Given the description of an element on the screen output the (x, y) to click on. 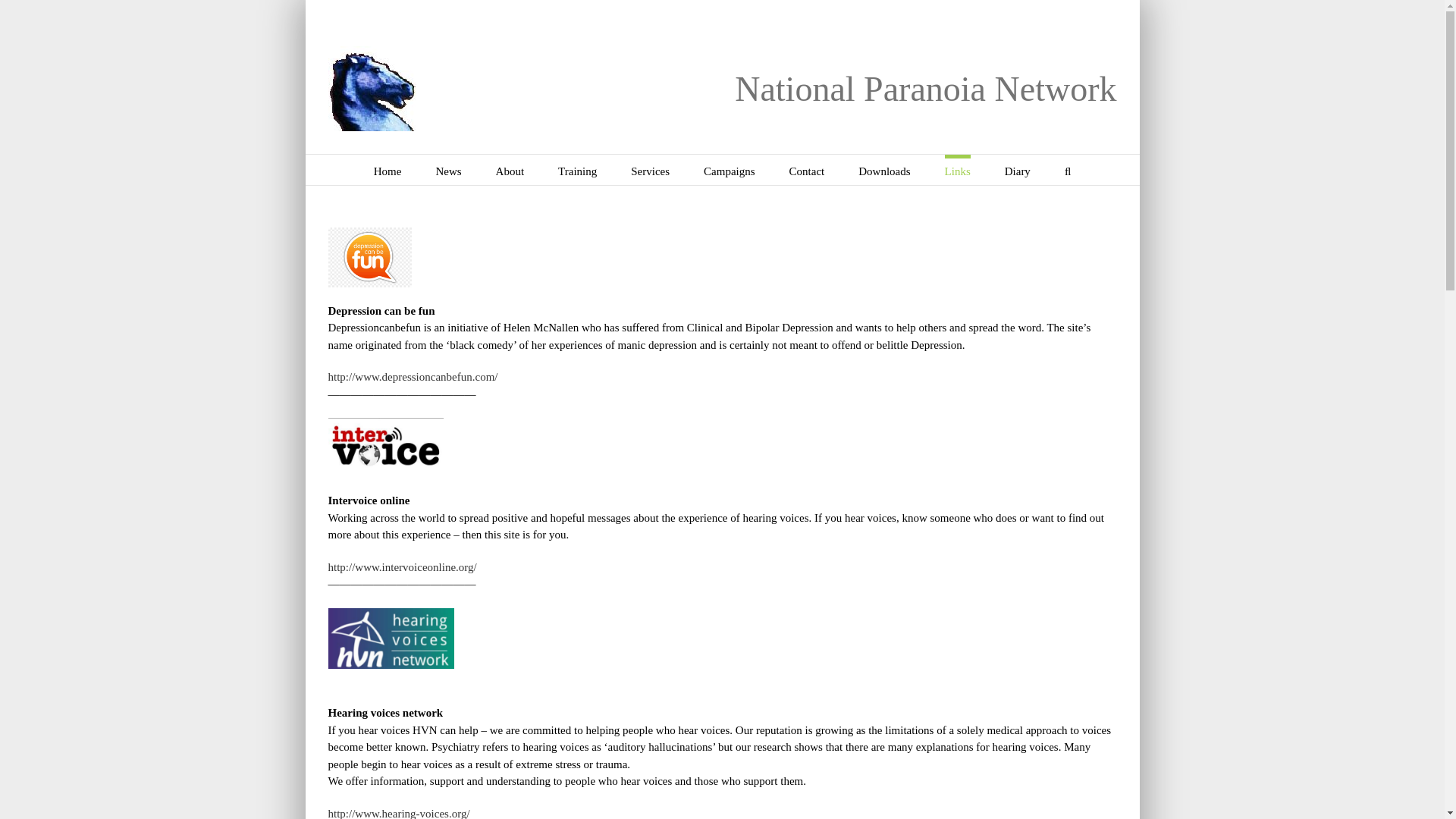
Campaigns (729, 169)
Training (576, 169)
Diary (1017, 169)
Downloads (884, 169)
About (510, 169)
Links (957, 169)
Contact (807, 169)
News (448, 169)
Home (387, 169)
Services (649, 169)
Search (1067, 169)
